Given the description of an element on the screen output the (x, y) to click on. 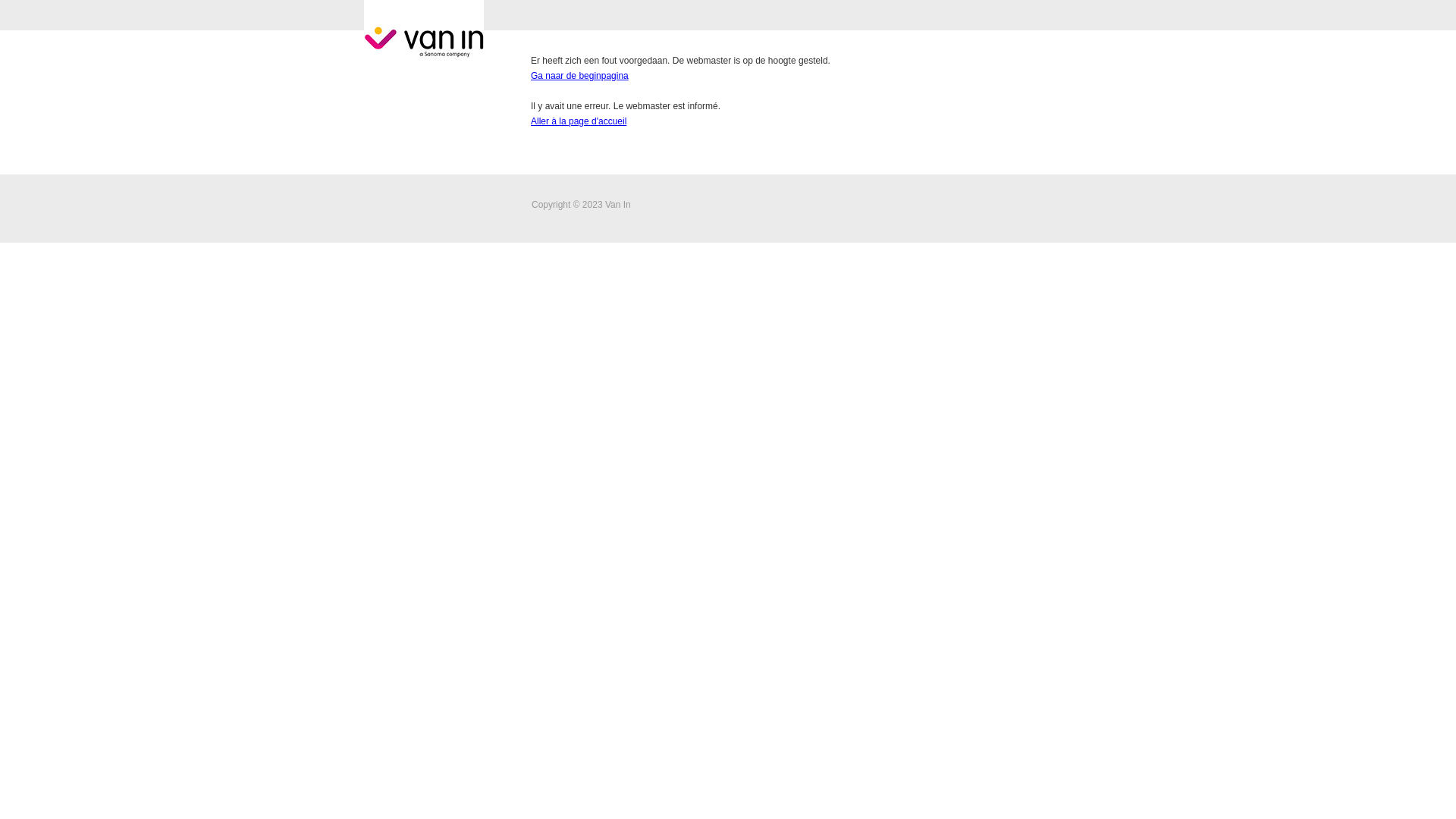
Ga naar de beginpagina Element type: text (579, 75)
